Given the description of an element on the screen output the (x, y) to click on. 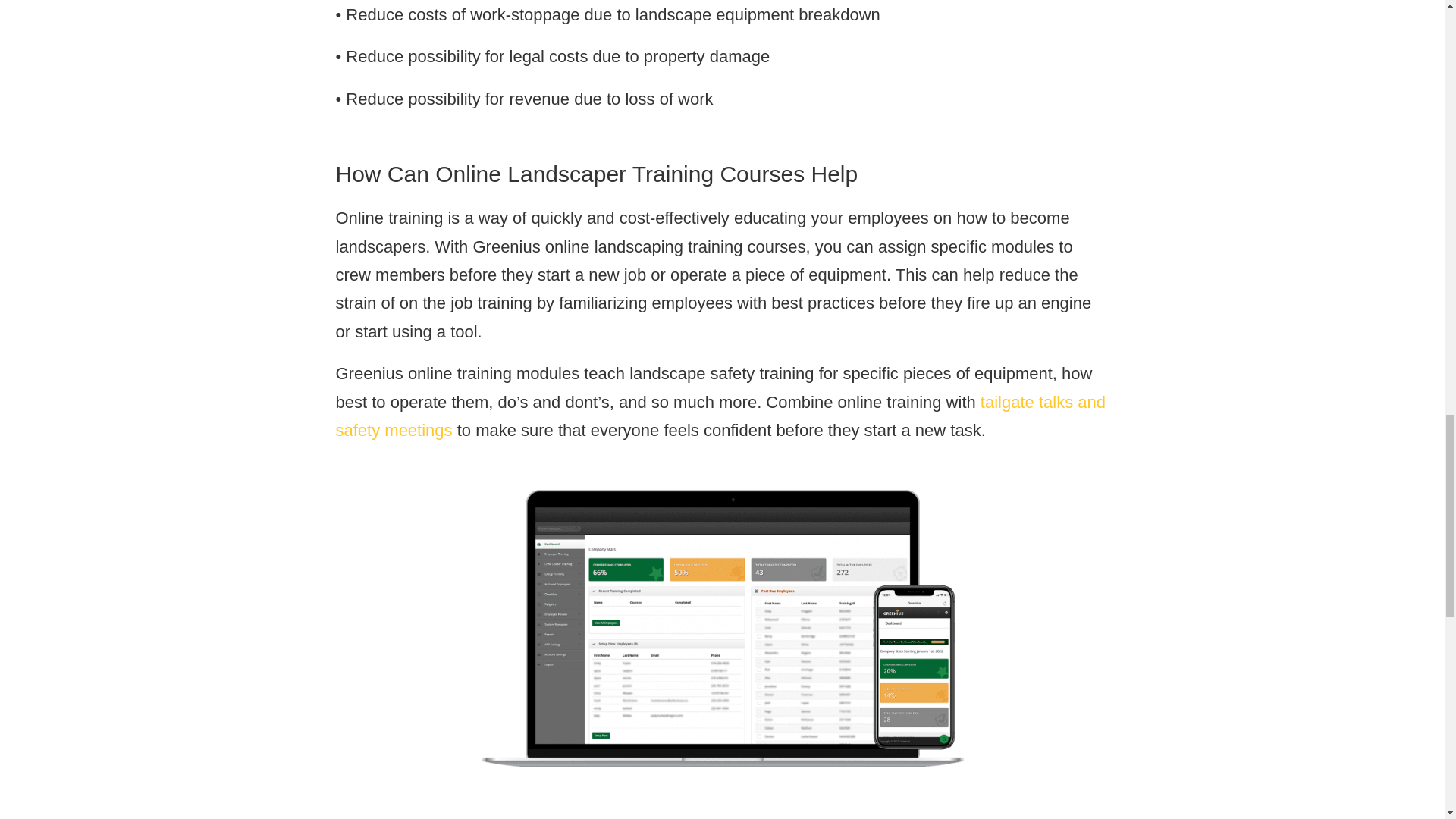
tailgate talks and safety meetings (719, 416)
